Given the description of an element on the screen output the (x, y) to click on. 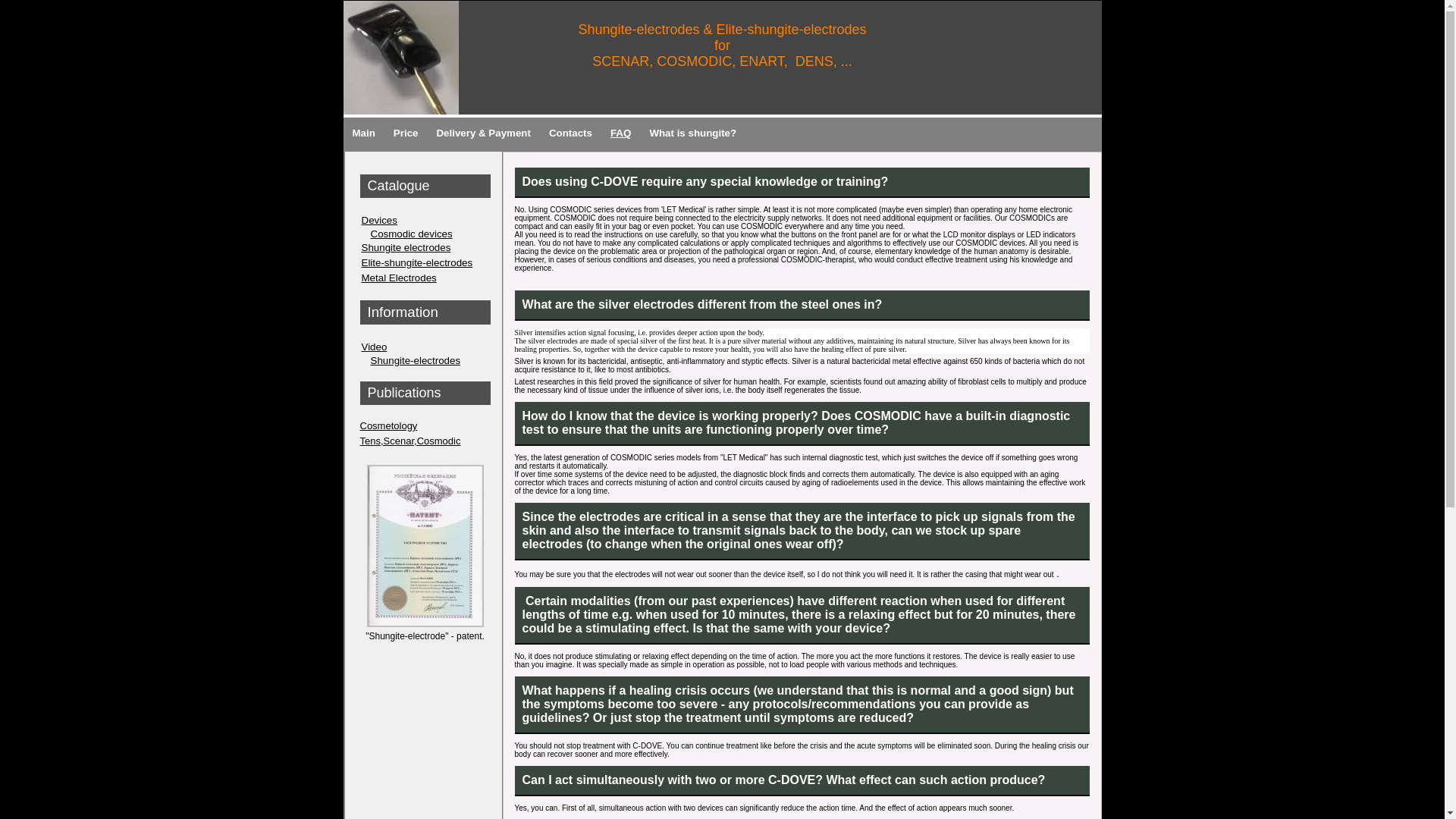
Metal Electrodes (424, 278)
Devices (424, 219)
What is shungite? (692, 134)
Main (363, 134)
Shungite electrodes (424, 247)
Price (406, 134)
Contacts (570, 134)
Video (424, 346)
Cosmetology (387, 425)
Cosmodic devices (424, 233)
FAQ (620, 134)
Elite-shungite-electrodes (424, 262)
Tens,Scenar,Cosmodic (409, 440)
Shungite-electrodes (424, 360)
